Given the description of an element on the screen output the (x, y) to click on. 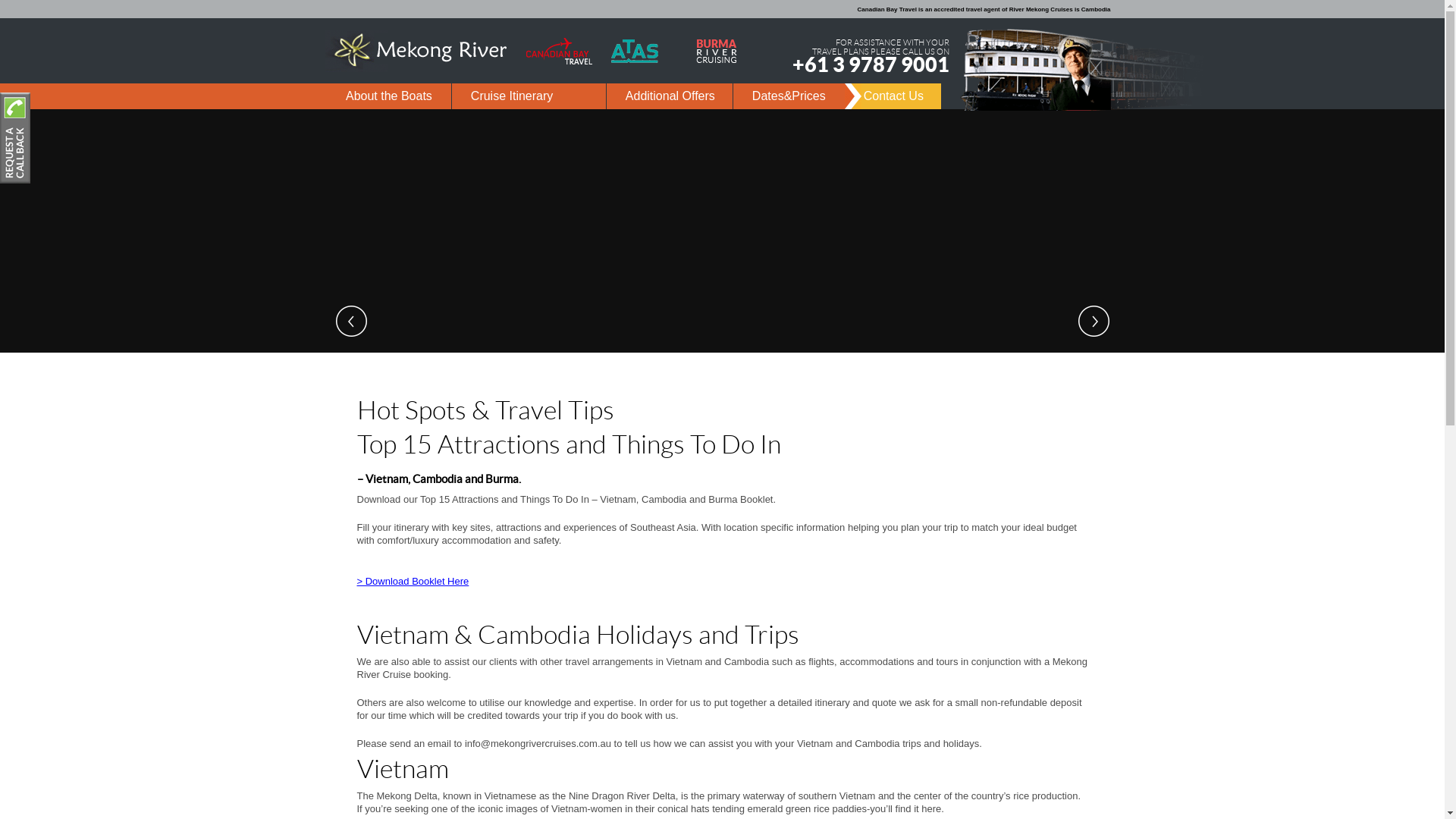
Cruise Itinerary Element type: text (528, 96)
> Download Booklet Here Element type: text (412, 580)
Dates&Prices Element type: text (788, 96)
Additional Offers Element type: text (669, 96)
About the Boats Element type: text (388, 96)
Contact Us Element type: text (15, 140)
info@mekongrivercruises.com.au Element type: text (537, 743)
Contact Us Element type: text (892, 96)
